Given the description of an element on the screen output the (x, y) to click on. 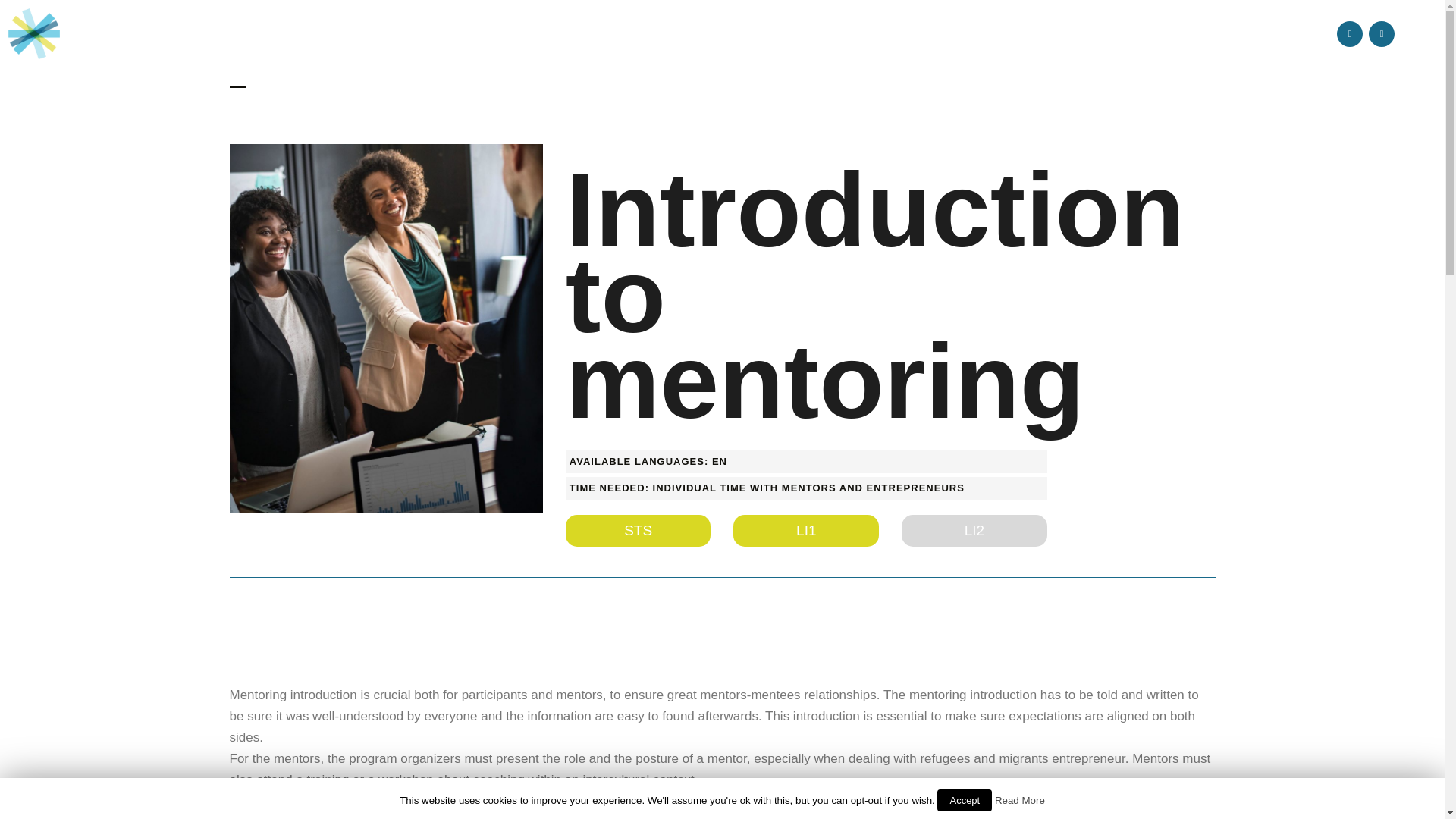
Accept (964, 800)
Stories (985, 33)
DISCOVER MORE (721, 535)
In Action (1060, 33)
MEnt Toolkit (1266, 33)
About (838, 33)
Read More (1019, 799)
Partners (910, 33)
Our Privacy Policy (721, 798)
MEnt Mentors (1155, 33)
